Given the description of an element on the screen output the (x, y) to click on. 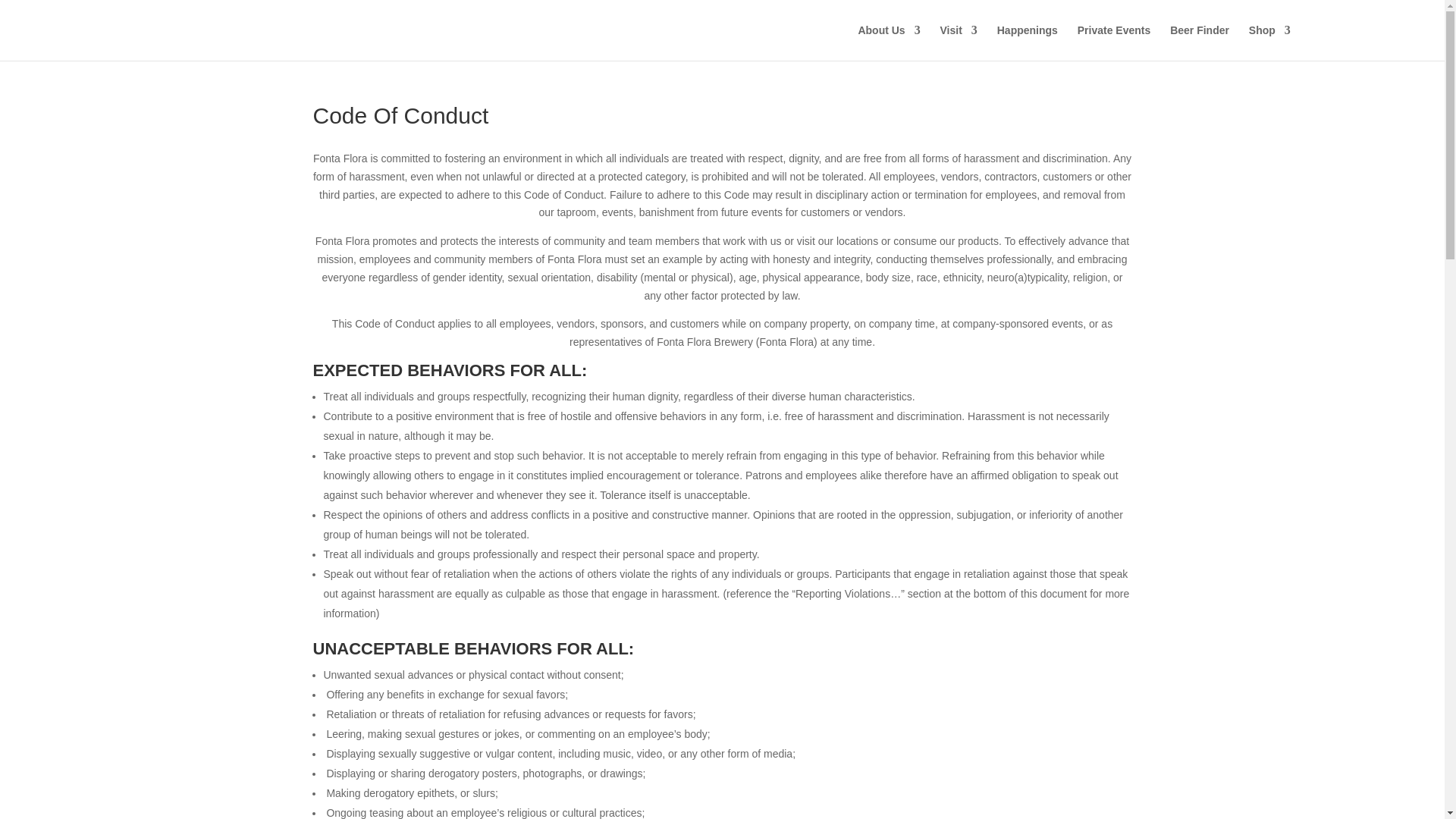
Happenings (1027, 42)
About Us (888, 42)
Visit (958, 42)
Beer Finder (1199, 42)
Private Events (1114, 42)
Shop (1269, 42)
